Given the description of an element on the screen output the (x, y) to click on. 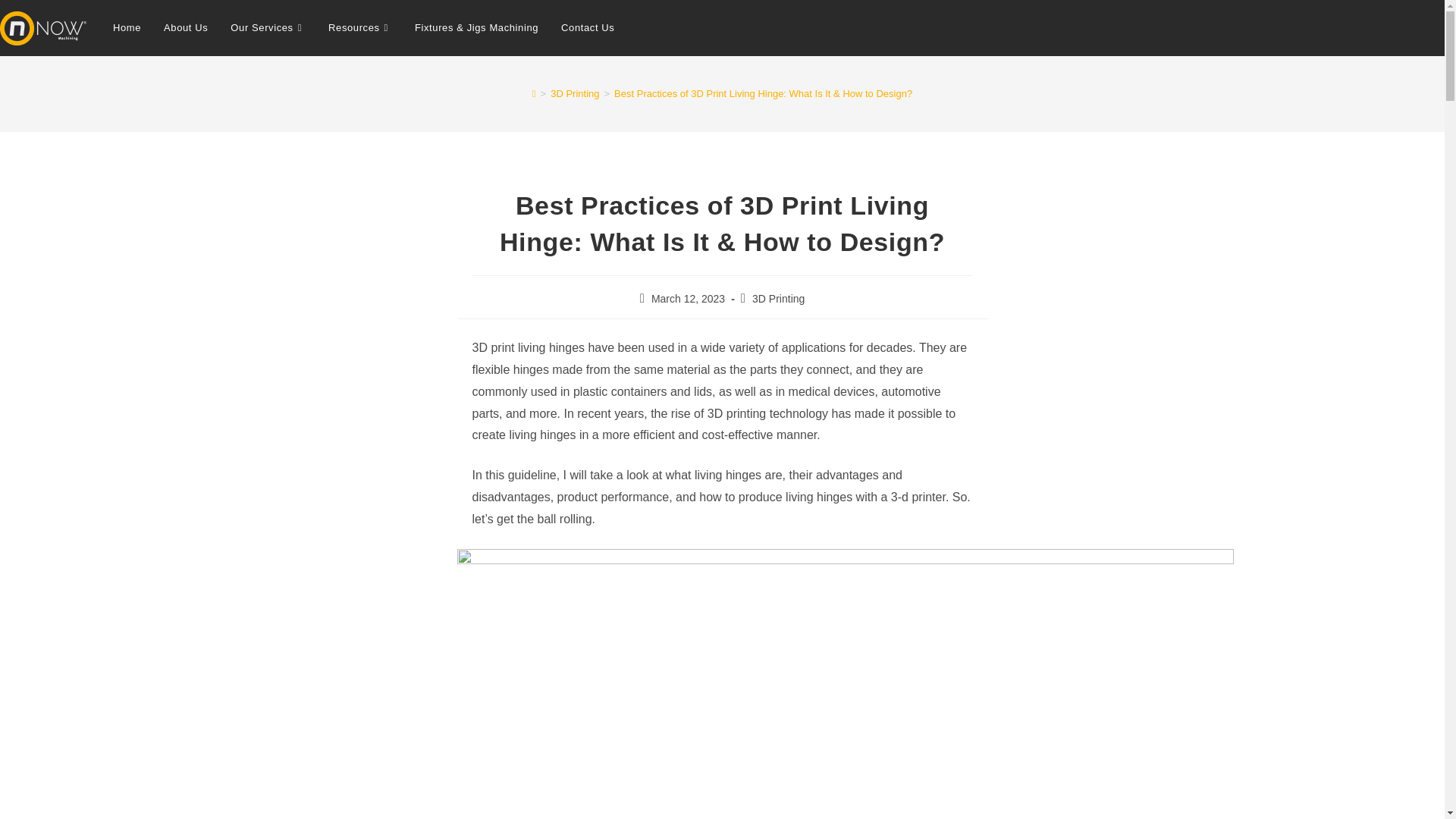
Home (126, 28)
About Us (185, 28)
Contact Us (588, 28)
Our Services (268, 28)
3D Printing (574, 93)
Resources (360, 28)
